Given the description of an element on the screen output the (x, y) to click on. 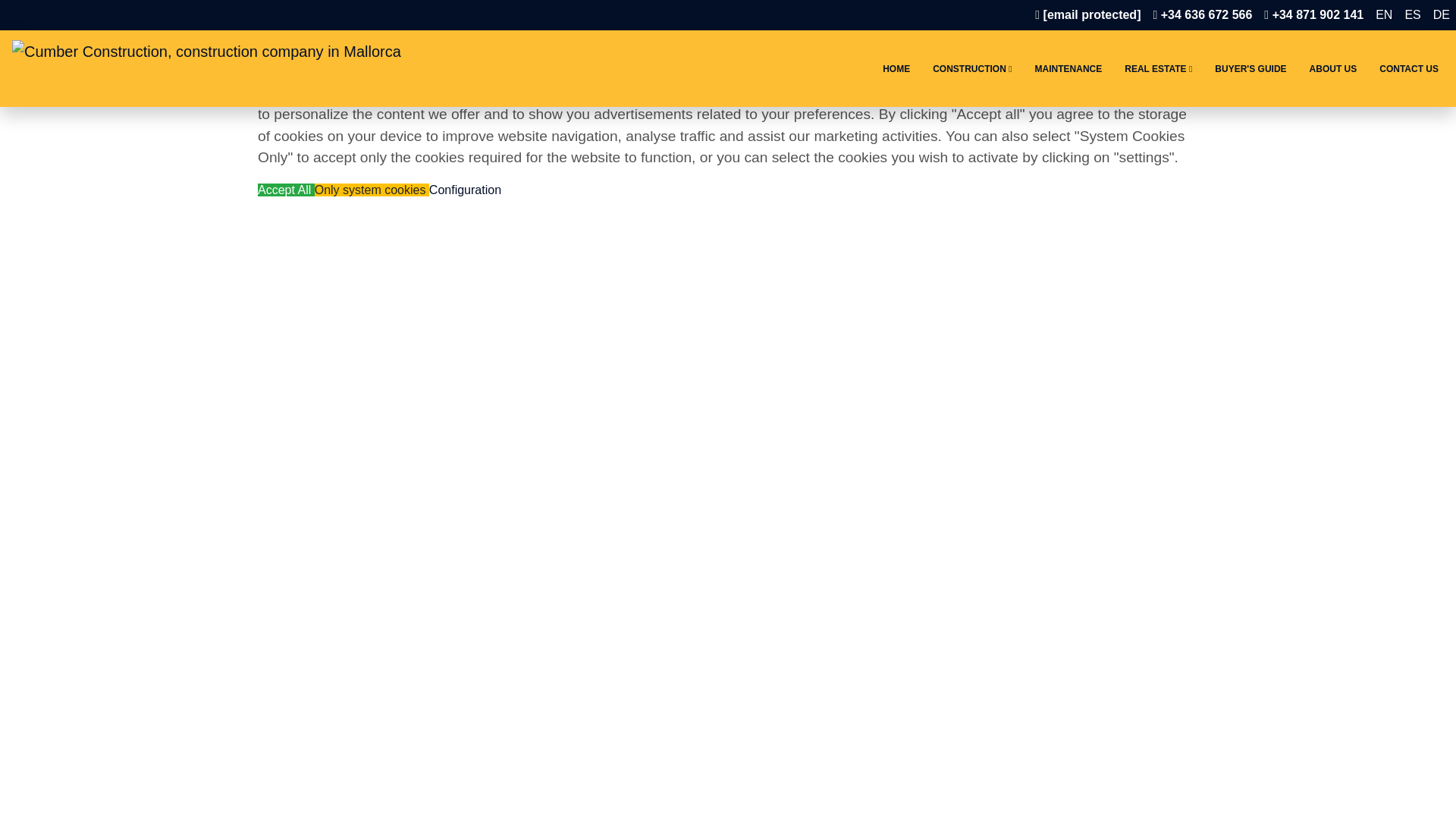
ABOUT US (1333, 68)
Construction - Construction Company In Mallorca (972, 68)
ES (1411, 15)
CONTACT US (1409, 68)
spanish (1411, 15)
english (1383, 15)
MAINTENANCE (1068, 68)
BUYER'S GUIDE (1250, 68)
REAL ESTATE (1158, 68)
EN (1383, 15)
Only system cookies (371, 189)
HOME (895, 68)
Accept All (285, 189)
CONSTRUCTION (972, 68)
